Given the description of an element on the screen output the (x, y) to click on. 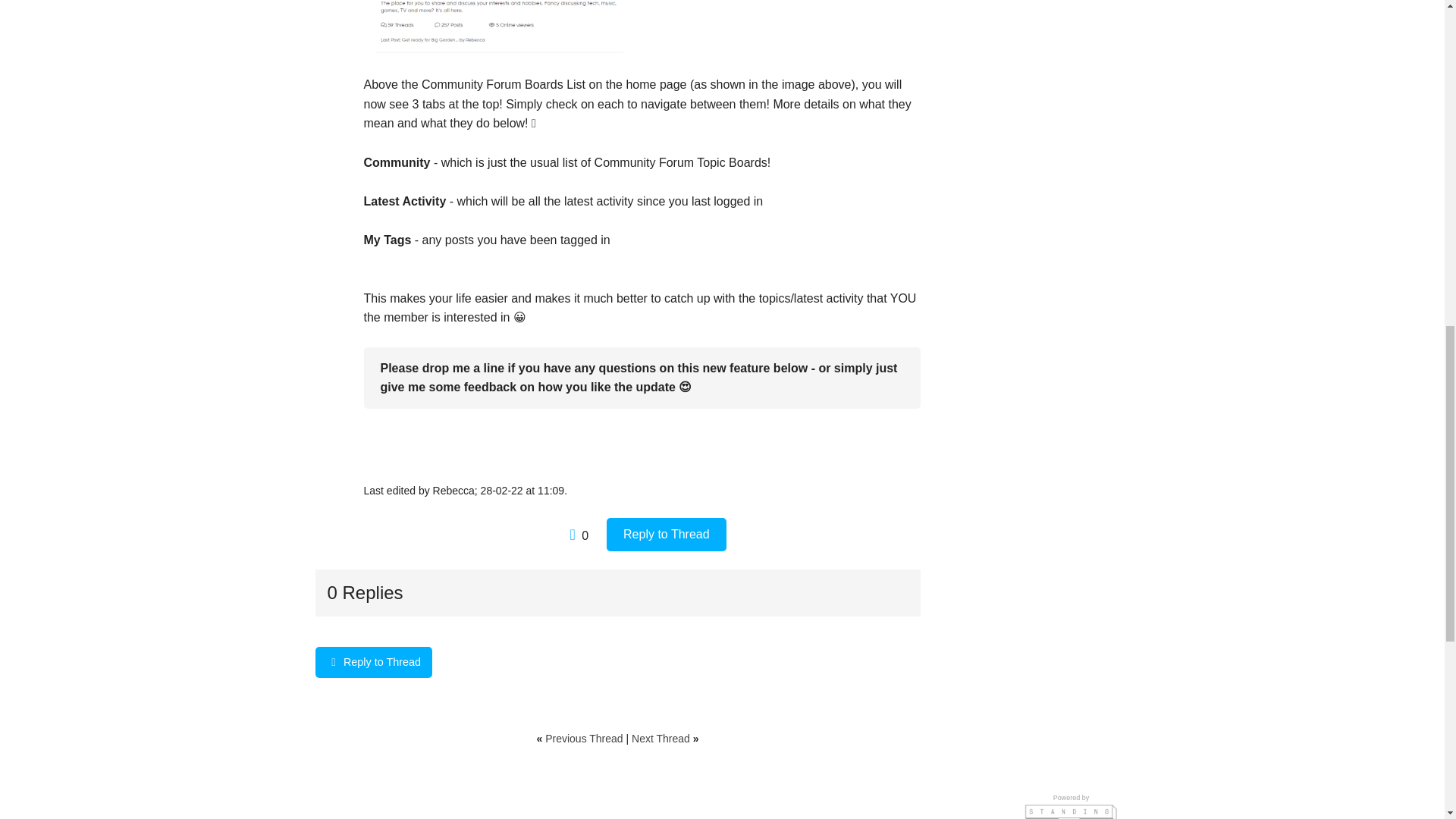
Reply to Thread (666, 534)
